Given the description of an element on the screen output the (x, y) to click on. 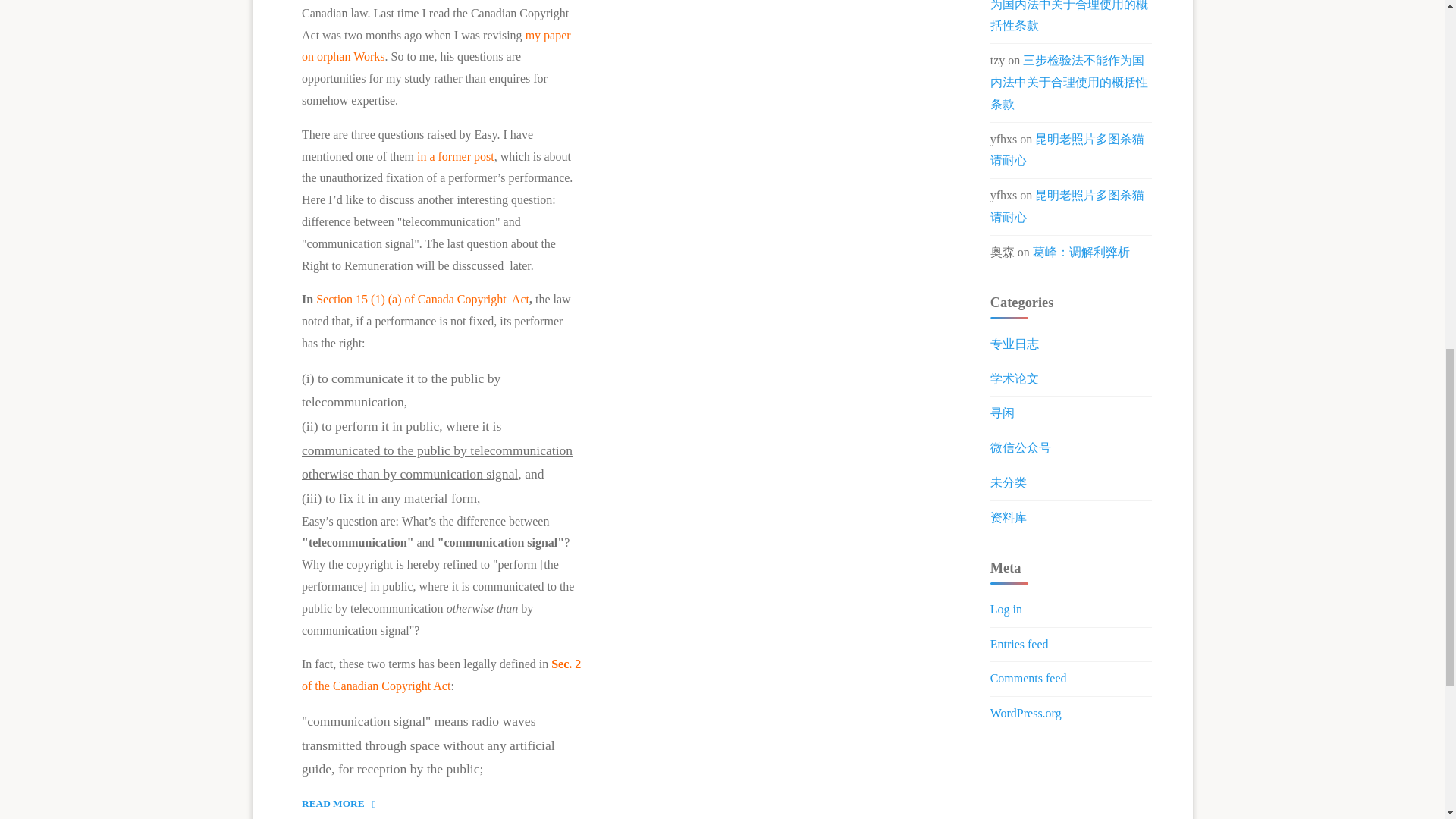
Sec. 2 of the Canadian Copyright Act (440, 674)
my paper on orphan Works (344, 803)
in a former post (435, 45)
